Given the description of an element on the screen output the (x, y) to click on. 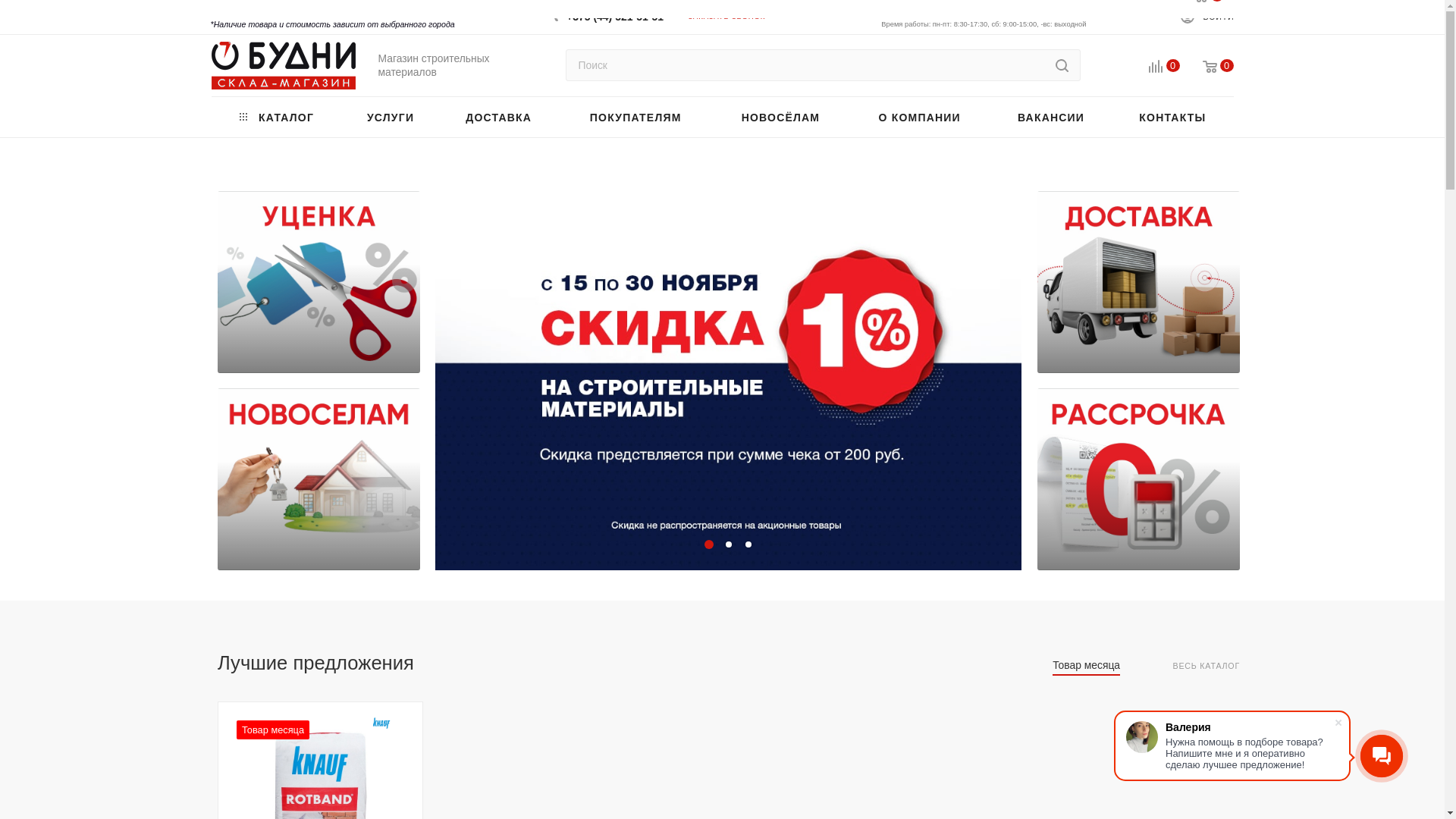
KNAUF Element type: hover (380, 722)
0 Element type: text (1206, 66)
0 Element type: text (1152, 66)
+375 (44) 521-51-51 Element type: text (614, 11)
